Given the description of an element on the screen output the (x, y) to click on. 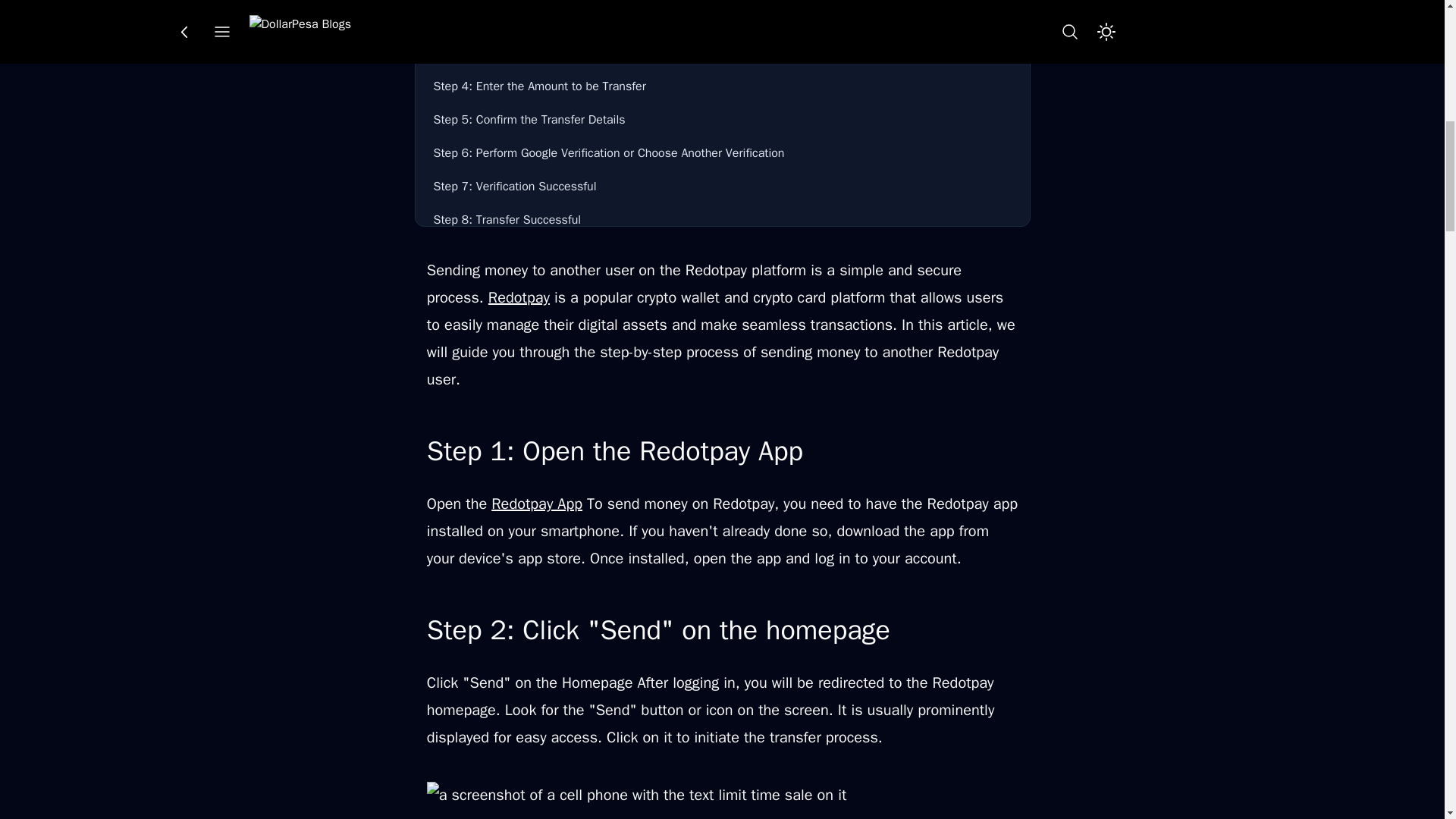
Redotpay (518, 297)
Step 5: Confirm the Transfer Details (722, 119)
Step 4: Enter the Amount to be Transfer (722, 86)
Step 8: Transfer Successful (722, 219)
Step 7: Verification Successful (722, 186)
Step 2: Click "Send" on the homepage (722, 19)
Step 3: Enter the recipient's RedotPay account (722, 52)
Redotpay App (537, 503)
